Given the description of an element on the screen output the (x, y) to click on. 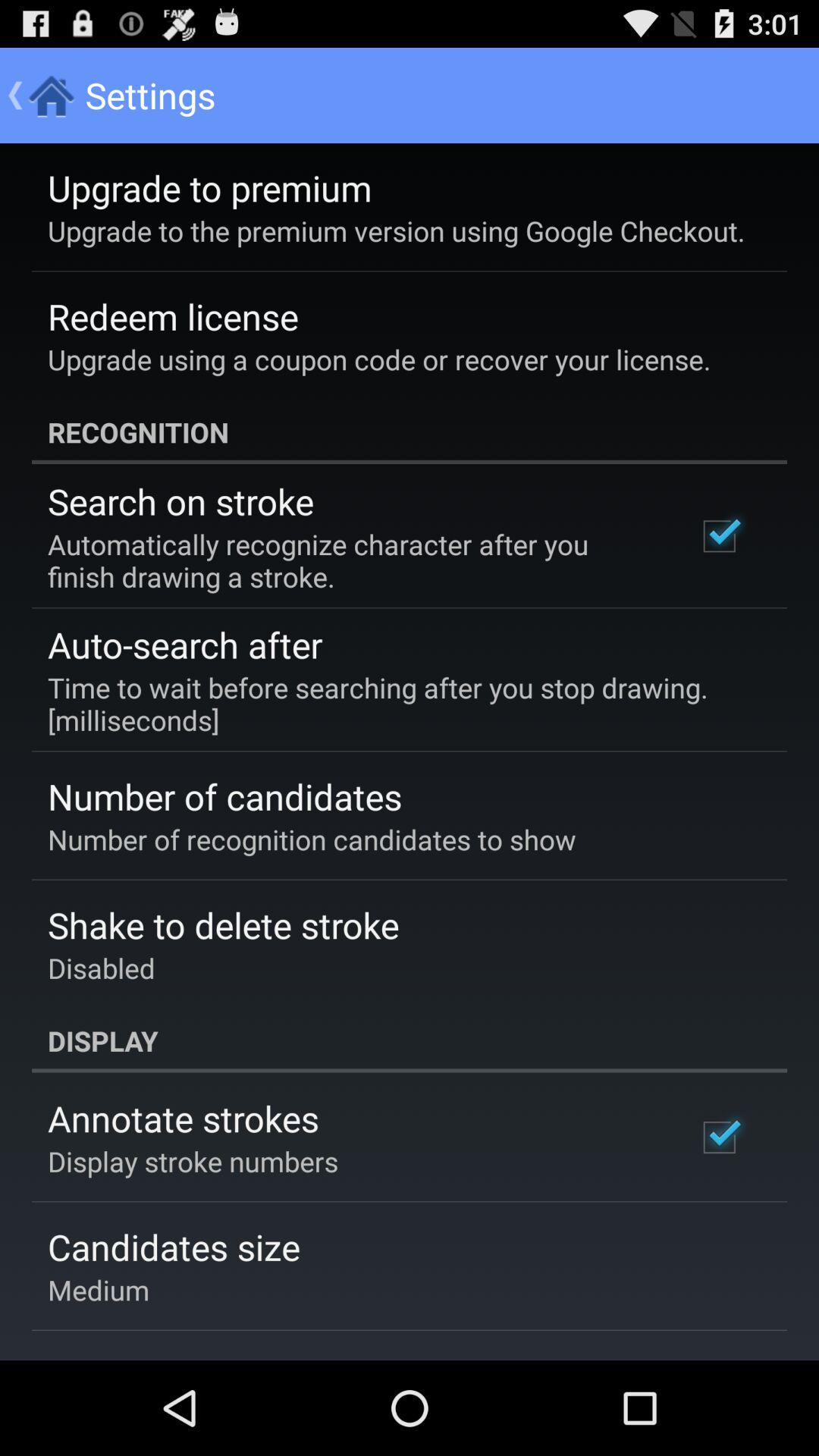
launch the app below display icon (183, 1118)
